Given the description of an element on the screen output the (x, y) to click on. 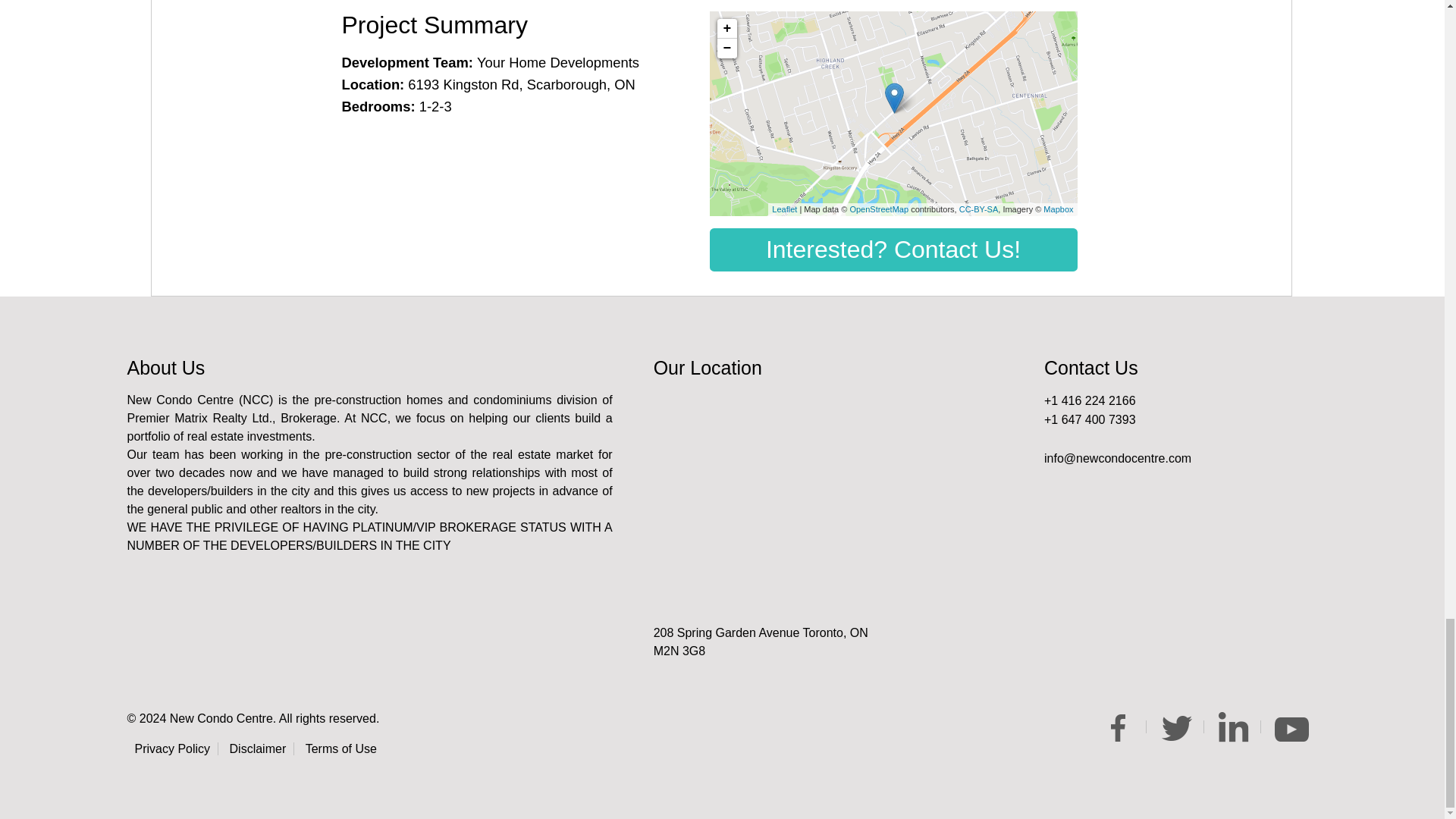
Zoom in (726, 28)
Interested? Contact Us! (893, 249)
Zoom out (726, 48)
Disclaimer (258, 748)
Privacy Policy (173, 748)
CC-BY-SA (978, 208)
Mapbox (1058, 208)
A JS library for interactive maps (783, 208)
OpenStreetMap (878, 208)
Leaflet (783, 208)
Terms of Use (341, 748)
